Given the description of an element on the screen output the (x, y) to click on. 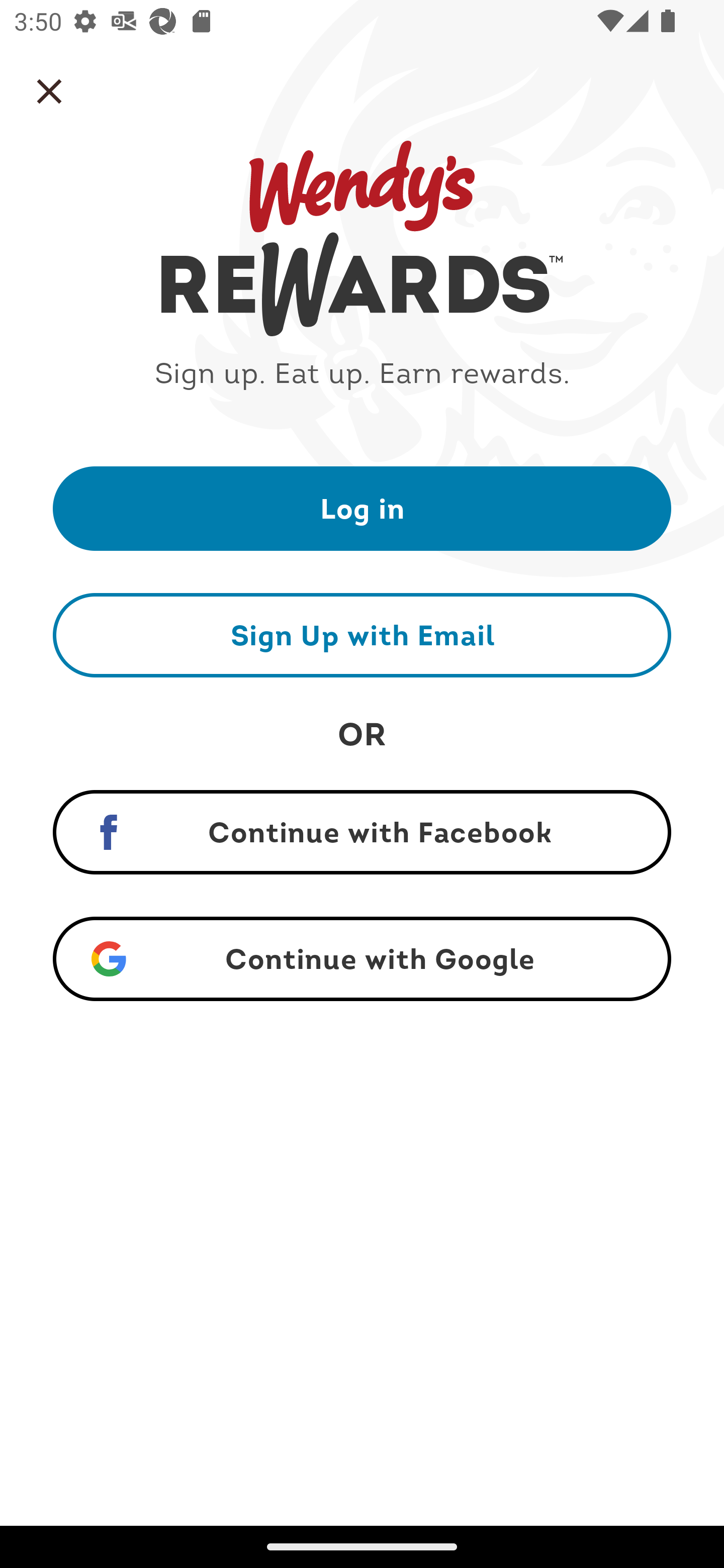
Navigate up (49, 91)
Log in (361, 507)
Sign Up with Email (361, 634)
Continue with Facebook (361, 832)
Continue with Google (361, 958)
